Given the description of an element on the screen output the (x, y) to click on. 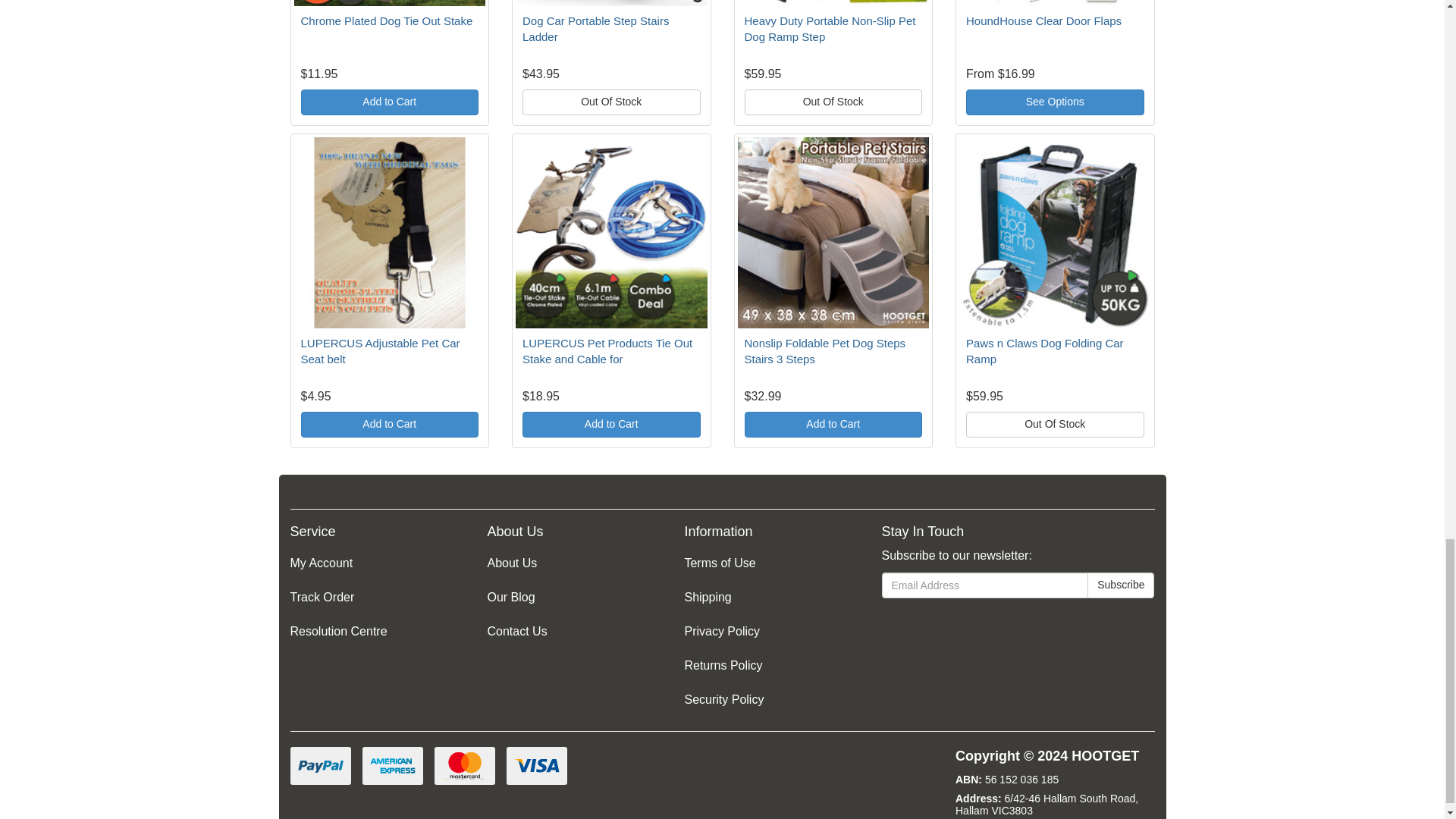
Add to Cart (389, 102)
Chrome Plated Dog Tie Out Stake (385, 20)
Dog Car Portable Step Stairs Ladder (595, 28)
Subscribe (1120, 585)
